Given the description of an element on the screen output the (x, y) to click on. 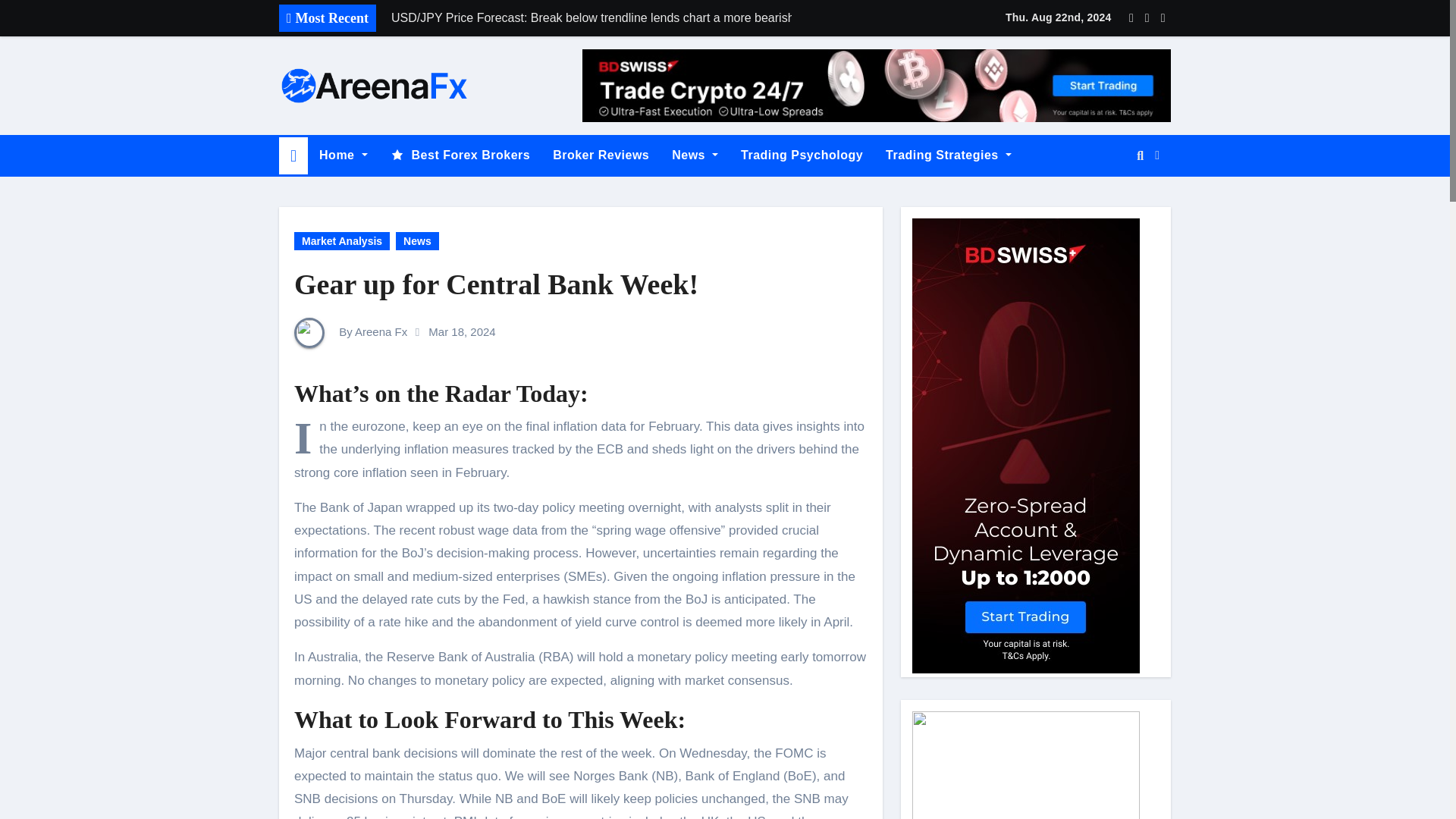
Broker Reviews (601, 155)
Trading Strategies (949, 155)
Best Forex Brokers (459, 155)
Trading Psychology (802, 155)
Trading Strategies (949, 155)
Home (342, 155)
News (695, 155)
Broker Reviews (601, 155)
Best Forex Brokers (459, 155)
News (695, 155)
